Given the description of an element on the screen output the (x, y) to click on. 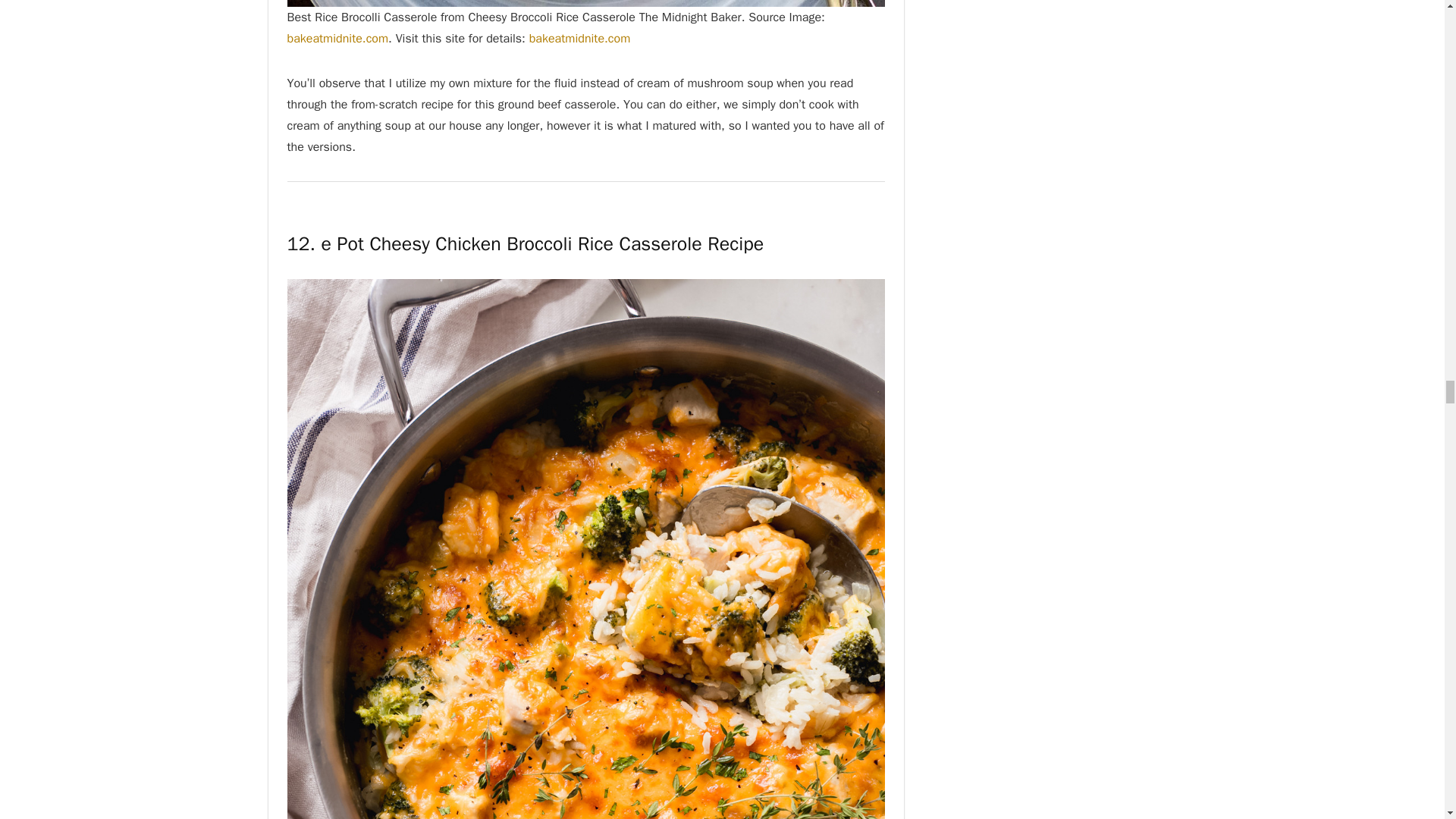
bakeatmidnite.com (579, 38)
bakeatmidnite.com (337, 38)
